Given the description of an element on the screen output the (x, y) to click on. 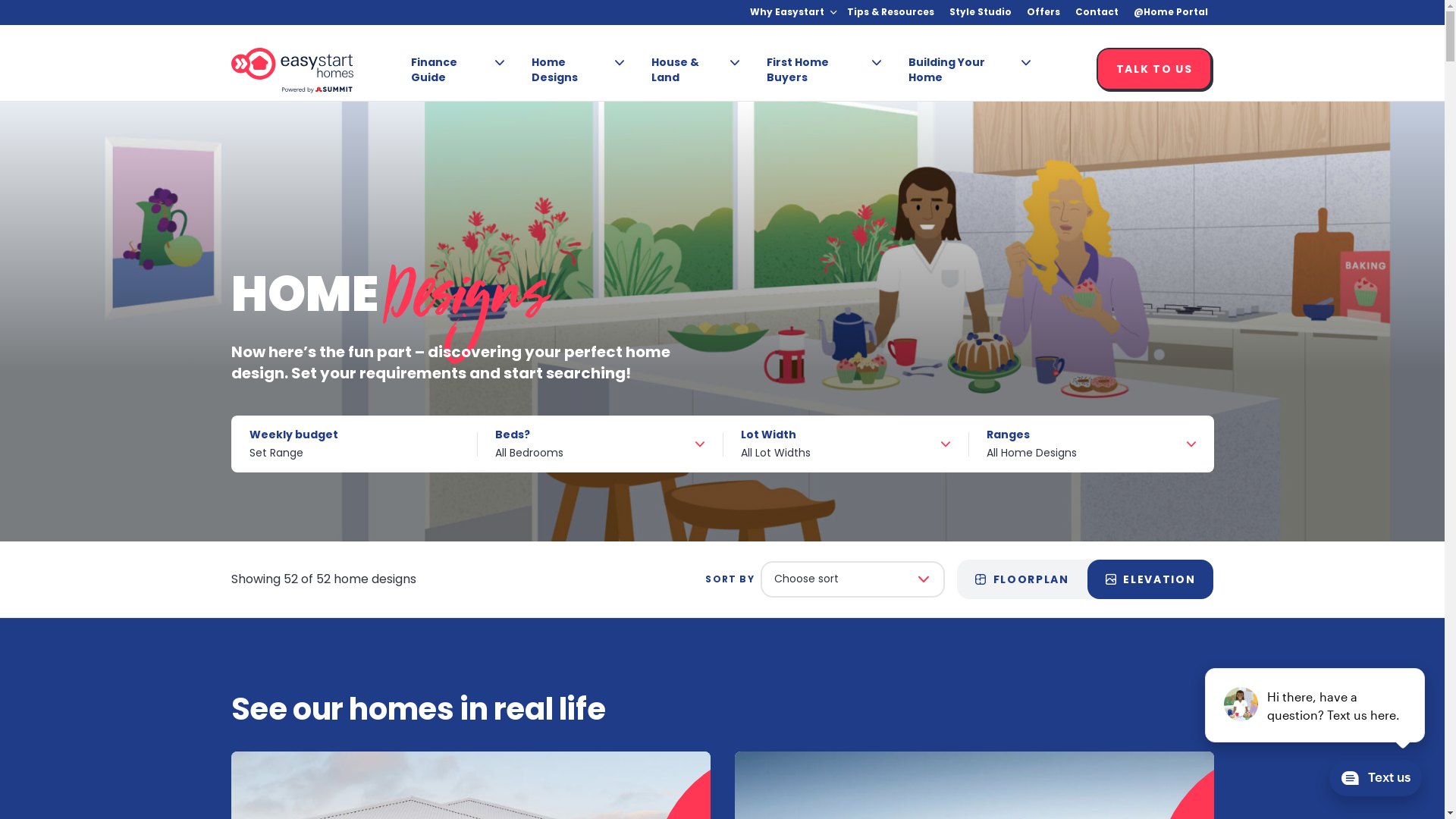
Building Your Home Element type: text (963, 70)
Finance Guide Element type: text (451, 70)
podium webchat widget prompt Element type: hover (1315, 705)
FLOORPLAN Element type: text (1022, 579)
Home Designs Element type: text (571, 70)
House & Land Element type: text (689, 70)
Style Studio Element type: text (980, 12)
ELEVATION Element type: text (1150, 579)
Why Easystart Element type: text (786, 12)
@Home Portal Element type: text (1169, 12)
TALK TO US Element type: text (1156, 70)
Tips & Resources Element type: text (889, 12)
Contact Element type: text (1096, 12)
Offers Element type: text (1043, 12)
First Home Buyers Element type: text (817, 70)
